Given the description of an element on the screen output the (x, y) to click on. 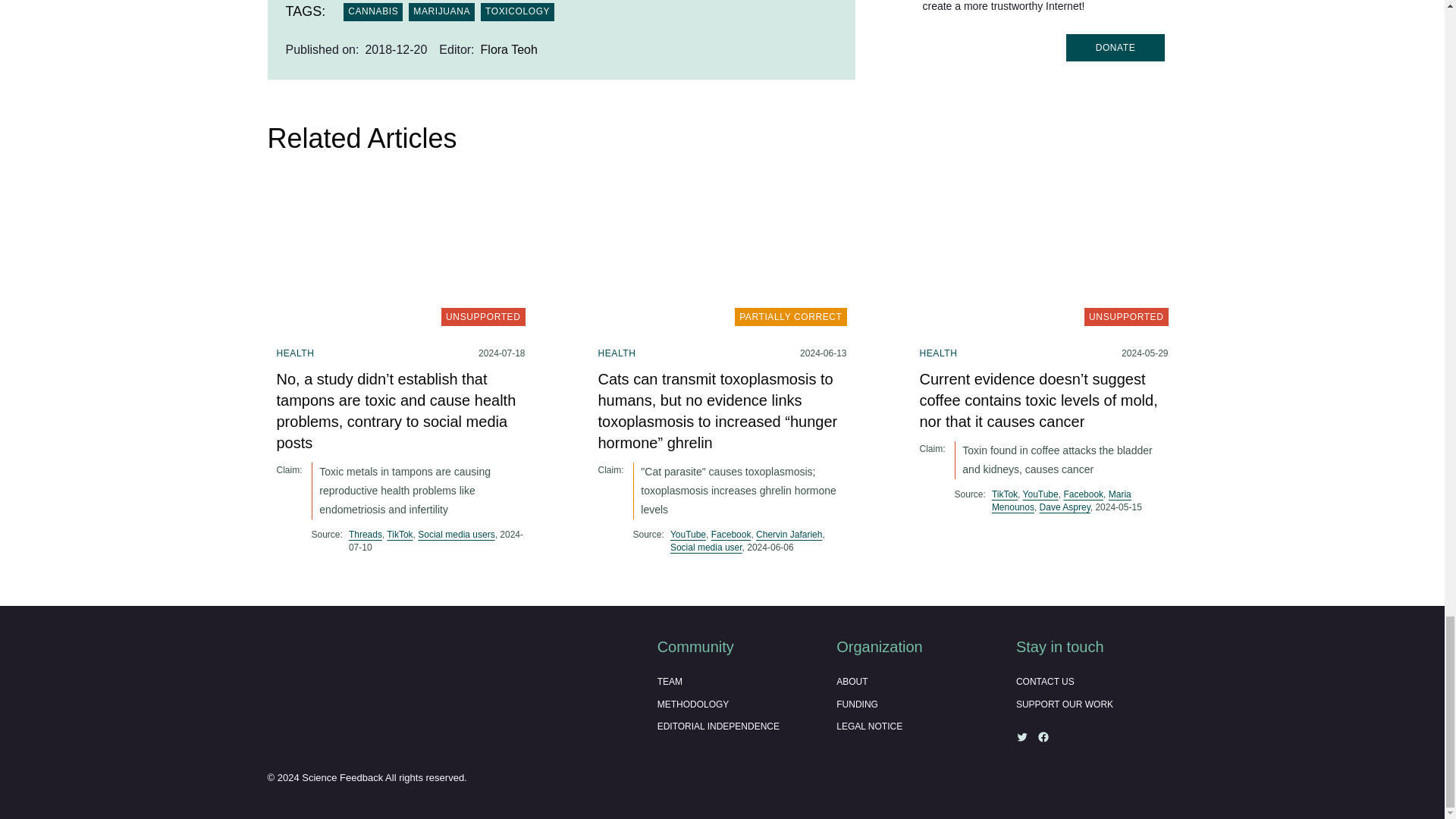
MARIJUANA (441, 12)
CANNABIS (373, 12)
